Given the description of an element on the screen output the (x, y) to click on. 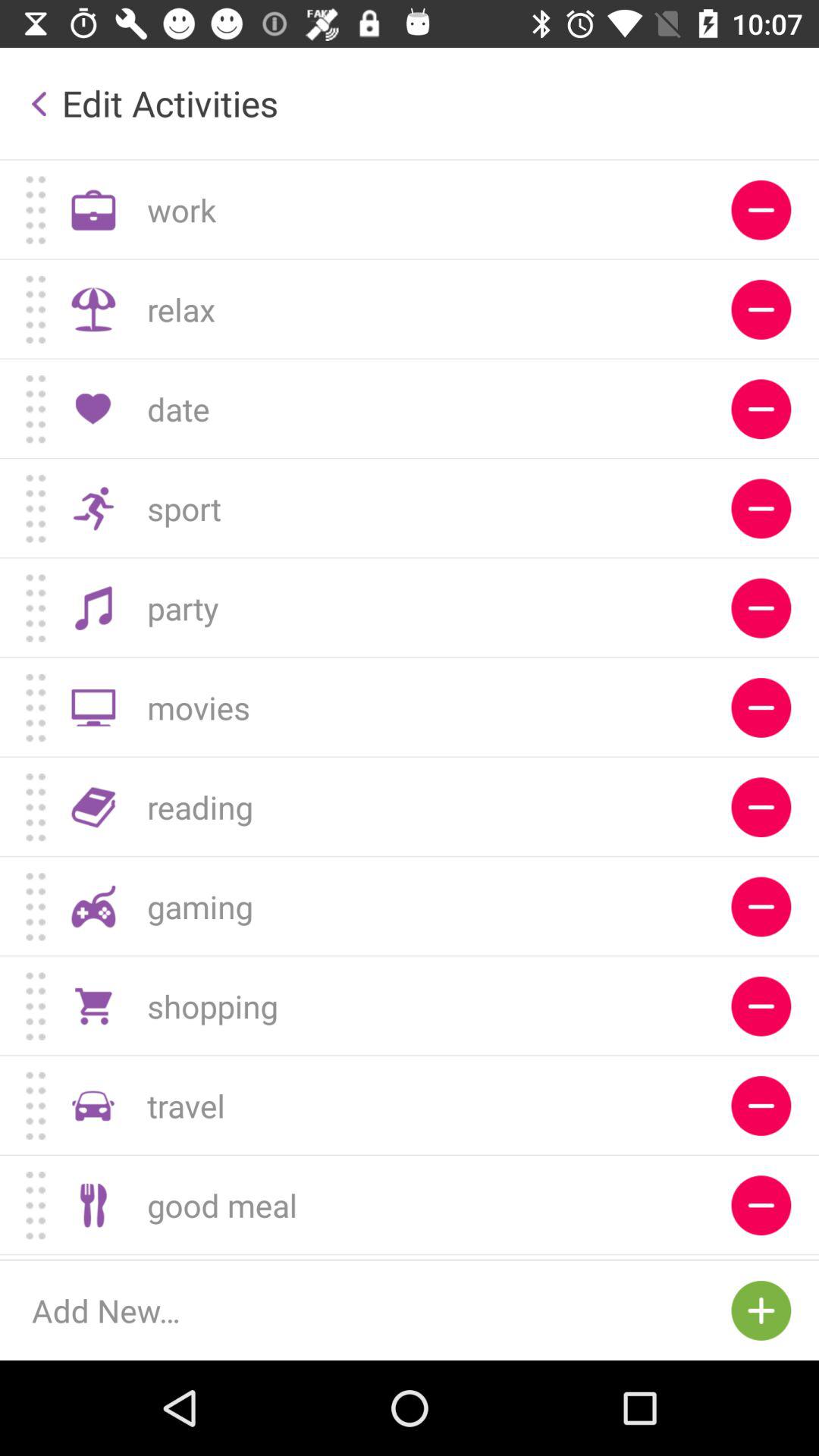
party (761, 608)
